Given the description of an element on the screen output the (x, y) to click on. 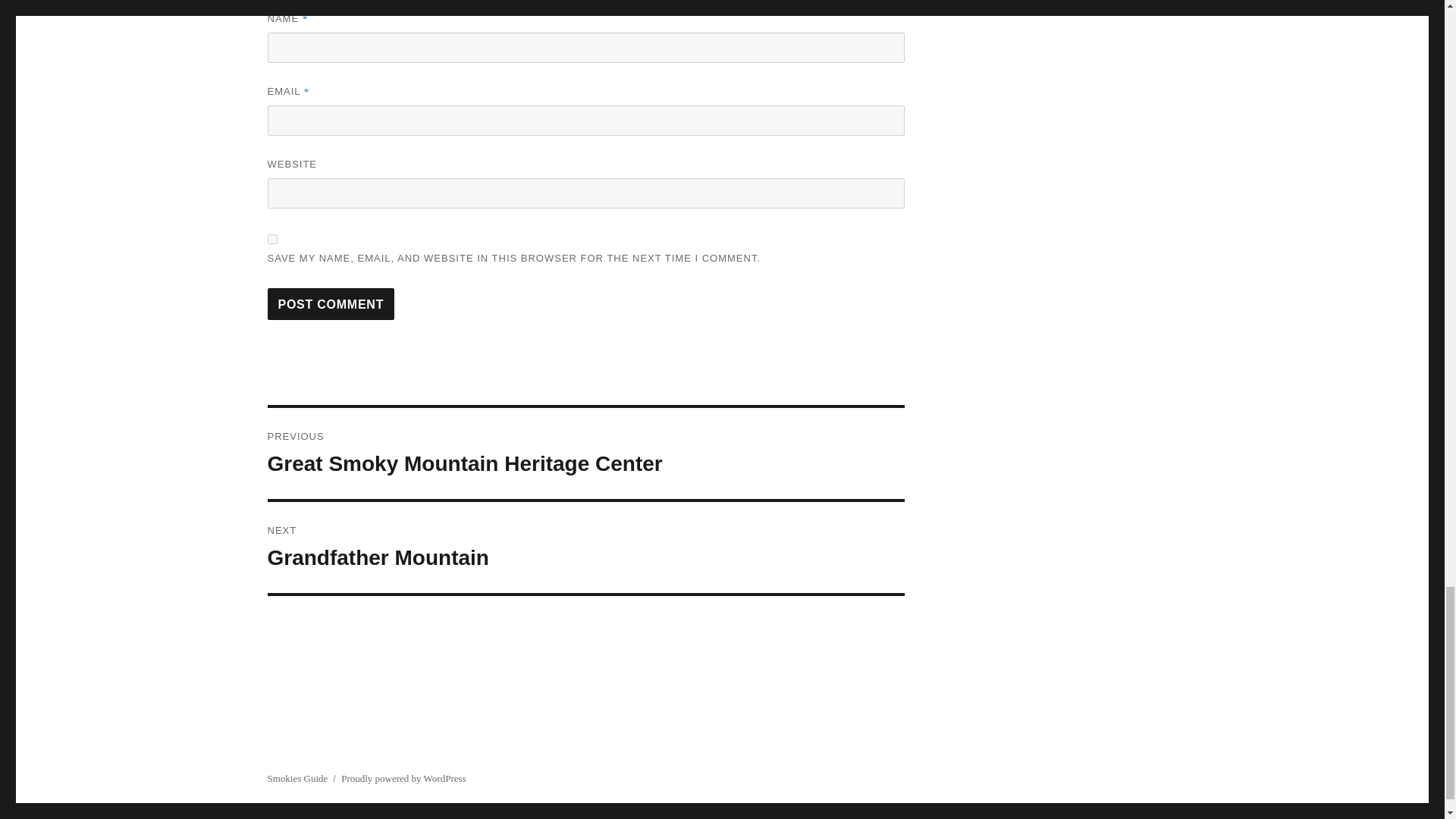
Post Comment (585, 452)
Post Comment (330, 304)
Smokies Guide (330, 304)
yes (296, 778)
